Given the description of an element on the screen output the (x, y) to click on. 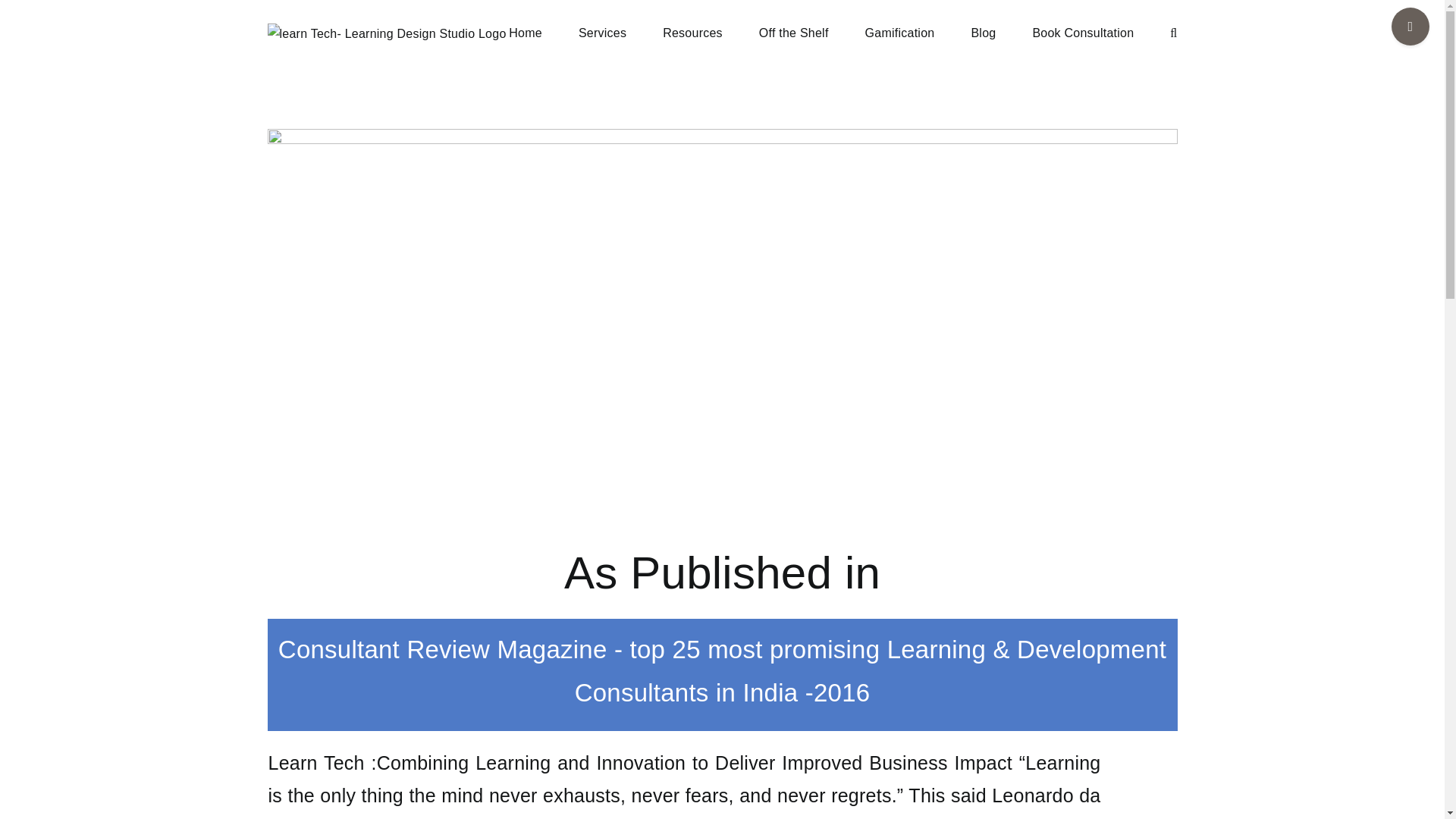
Resources (692, 31)
Off the Shelf (793, 31)
